Given the description of an element on the screen output the (x, y) to click on. 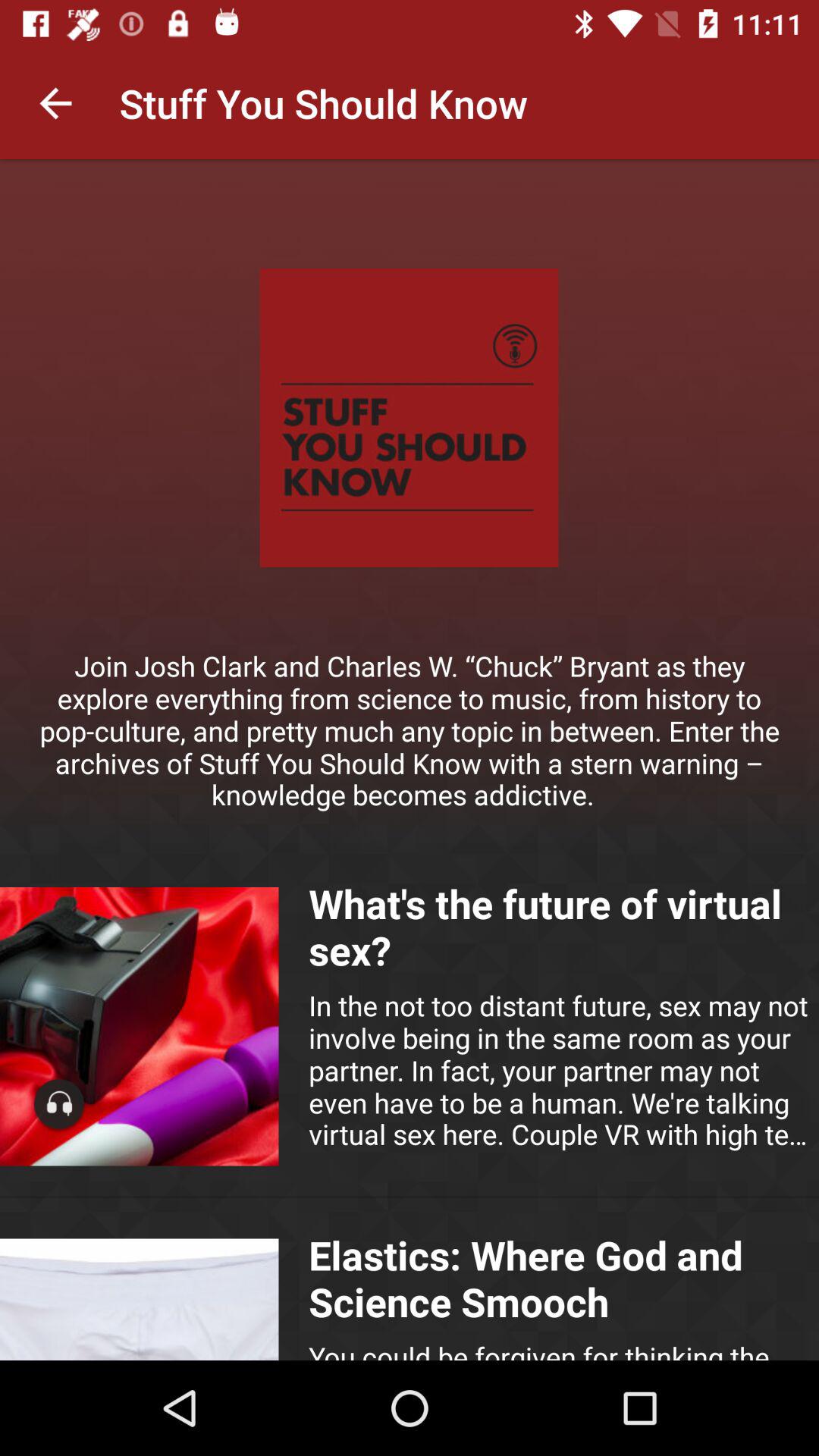
view image (139, 1299)
